Given the description of an element on the screen output the (x, y) to click on. 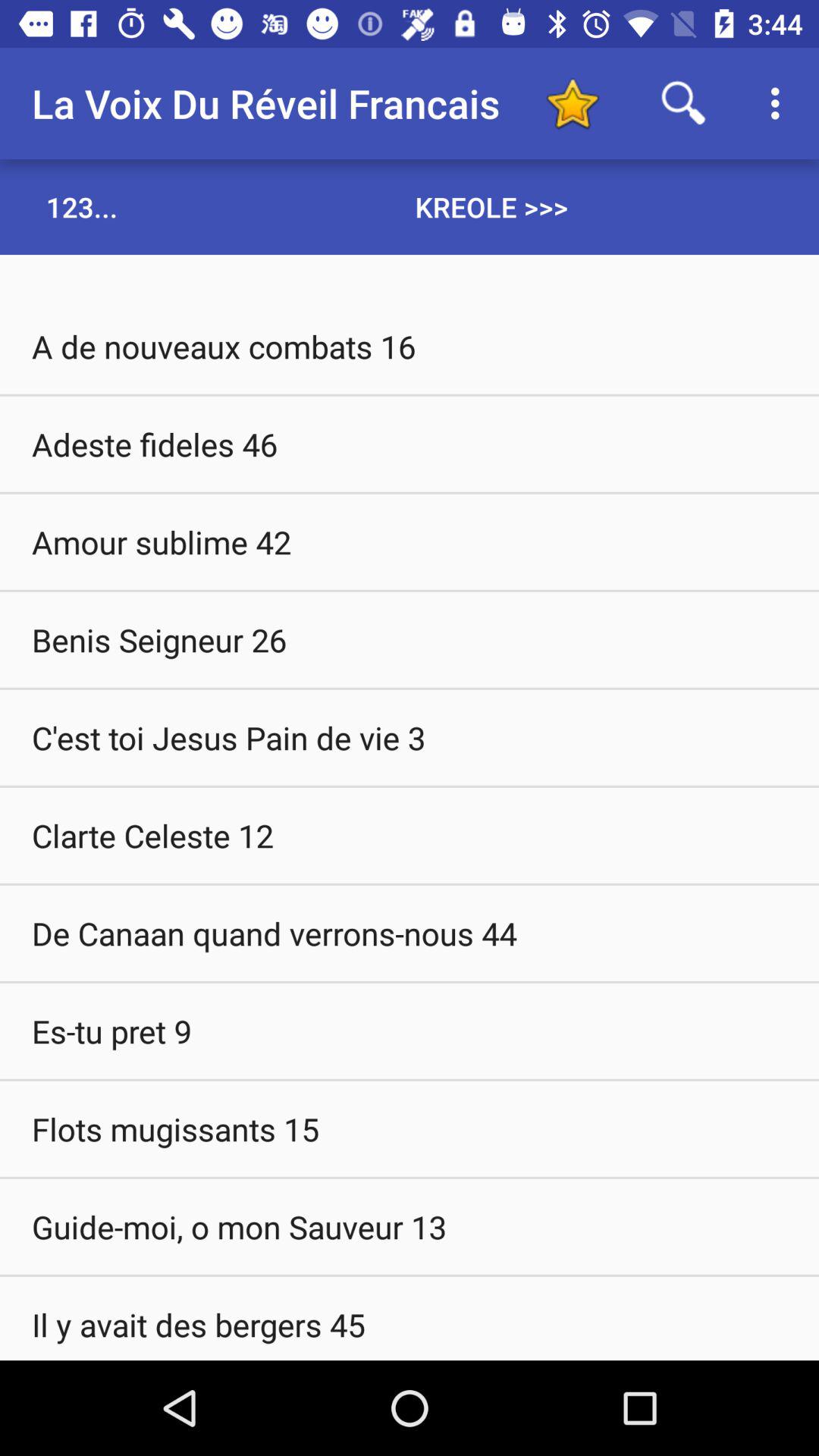
launch the icon below adeste fideles 46 (409, 541)
